Given the description of an element on the screen output the (x, y) to click on. 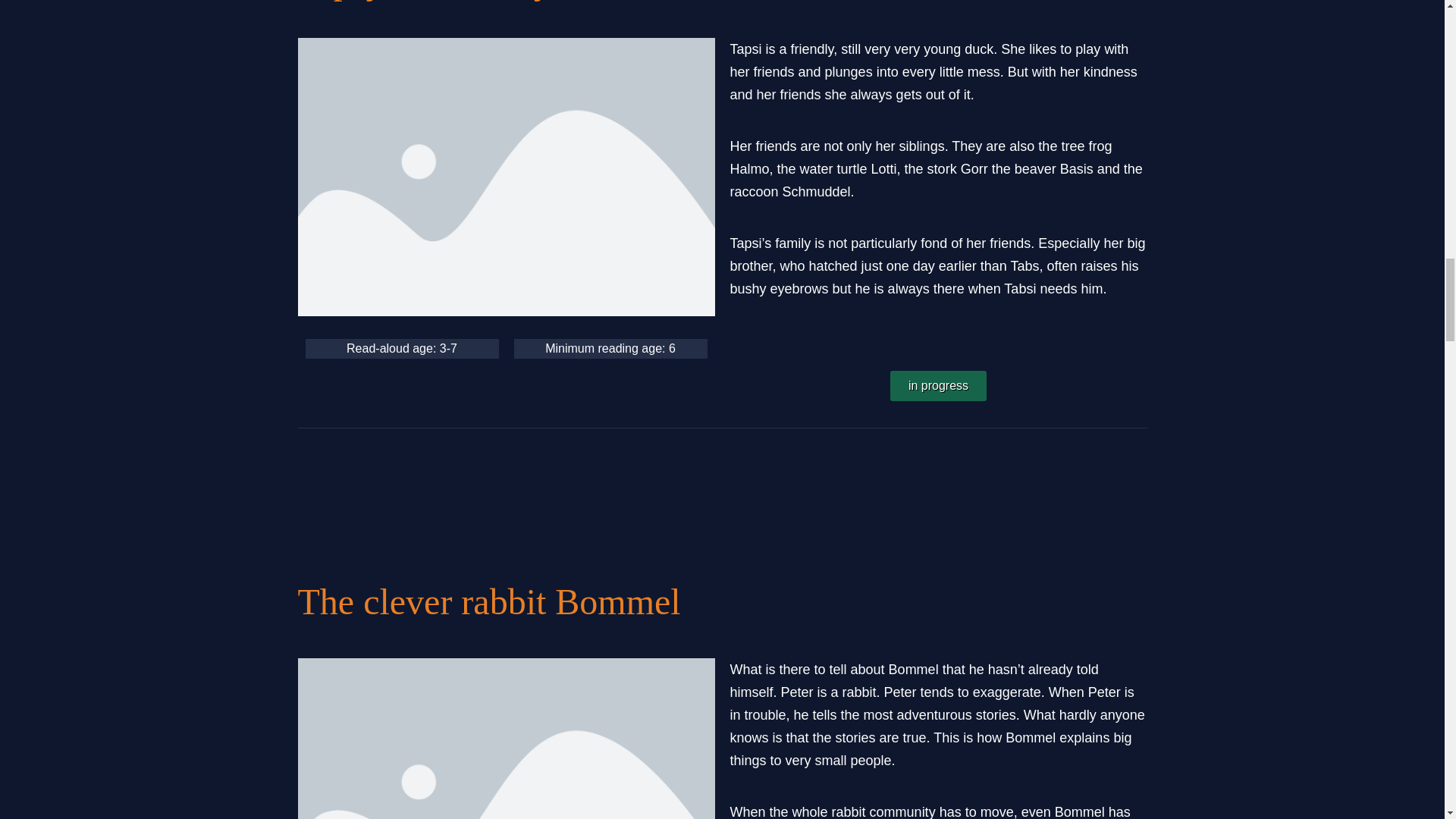
in progress (938, 386)
